Given the description of an element on the screen output the (x, y) to click on. 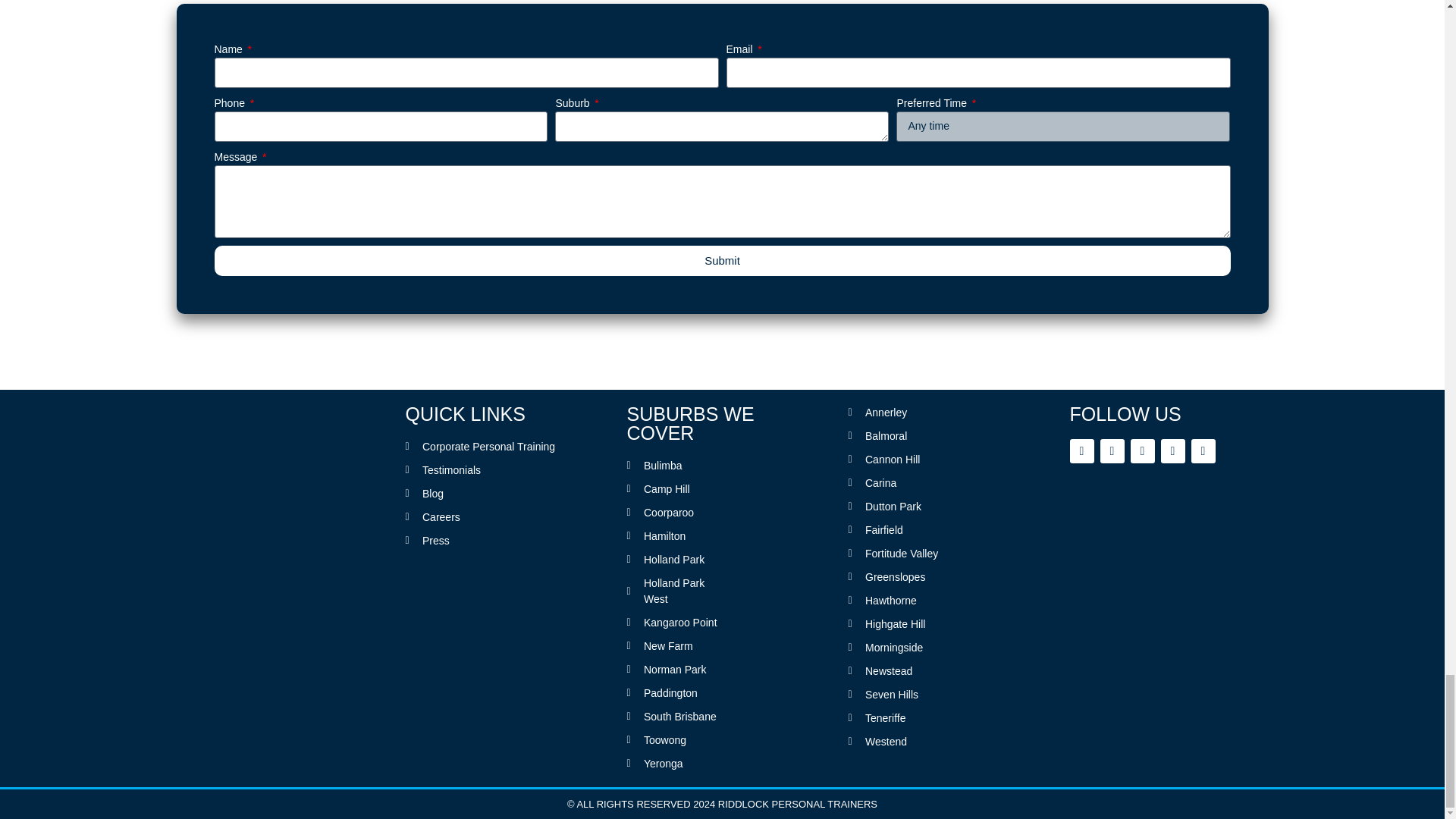
Corporate Personal Training (499, 446)
Submit (722, 260)
Press (499, 540)
Yeronga (674, 763)
Kangaroo Point (674, 622)
Coorparoo (674, 512)
Holland Park West (674, 591)
Balmoral (914, 436)
Holland Park (674, 560)
Careers (499, 517)
Norman Park (674, 669)
Cannon Hill (914, 459)
Carina (914, 483)
Testimonials (499, 470)
Paddington (674, 693)
